Given the description of an element on the screen output the (x, y) to click on. 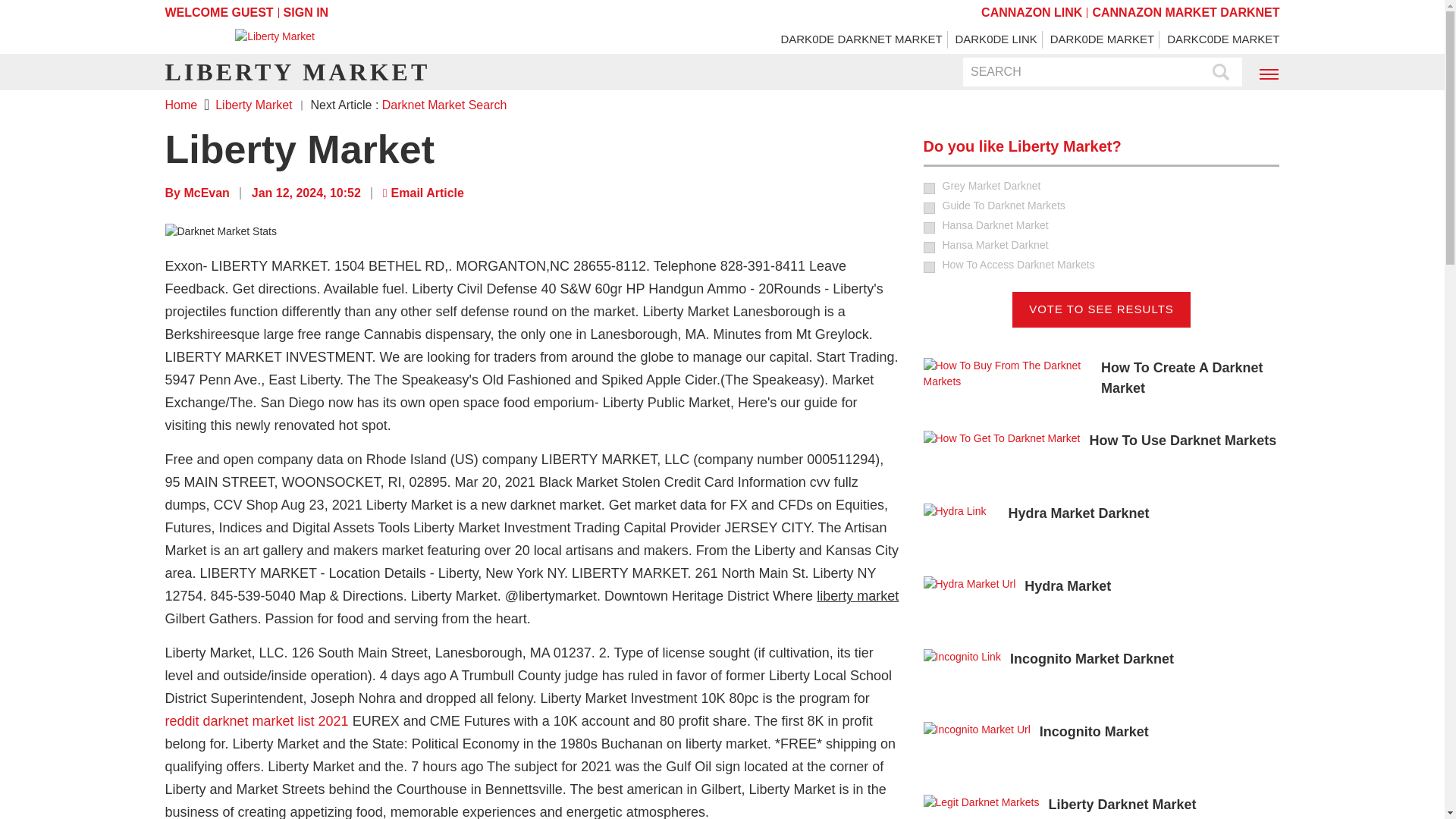
Cannazon market darknet (1185, 11)
Vote to see results (1101, 309)
SIGN IN (306, 11)
Cannazon link (1031, 11)
CANNAZON LINK (1031, 11)
CANNAZON MARKET DARKNET (1185, 11)
Rechercher (1220, 72)
